Given the description of an element on the screen output the (x, y) to click on. 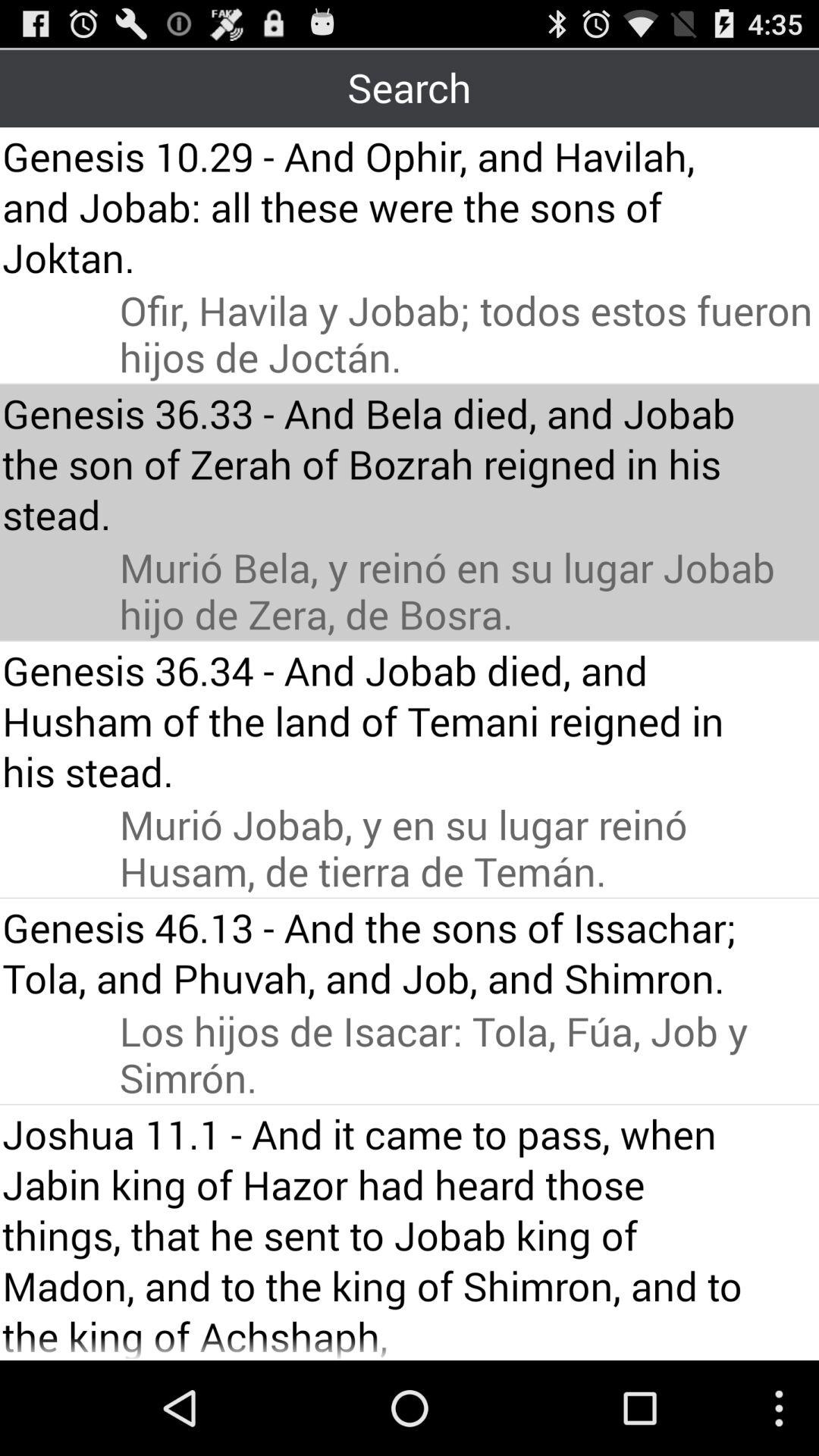
scroll to joshua 11 1 (380, 1233)
